Given the description of an element on the screen output the (x, y) to click on. 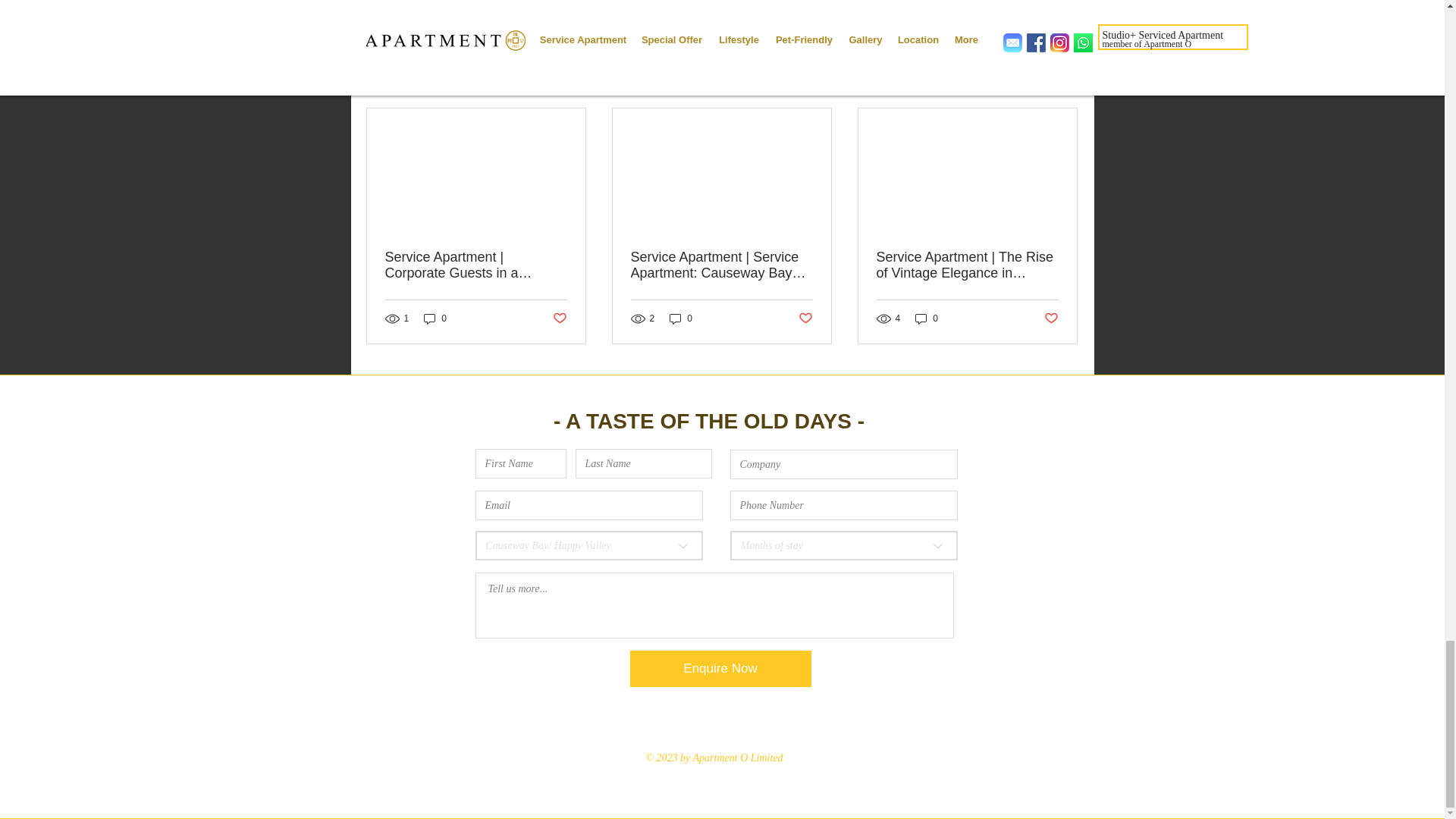
See All (1061, 81)
Post not marked as liked (995, 3)
0 (435, 318)
Post not marked as liked (558, 318)
Post not marked as liked (804, 318)
0 (681, 318)
